Given the description of an element on the screen output the (x, y) to click on. 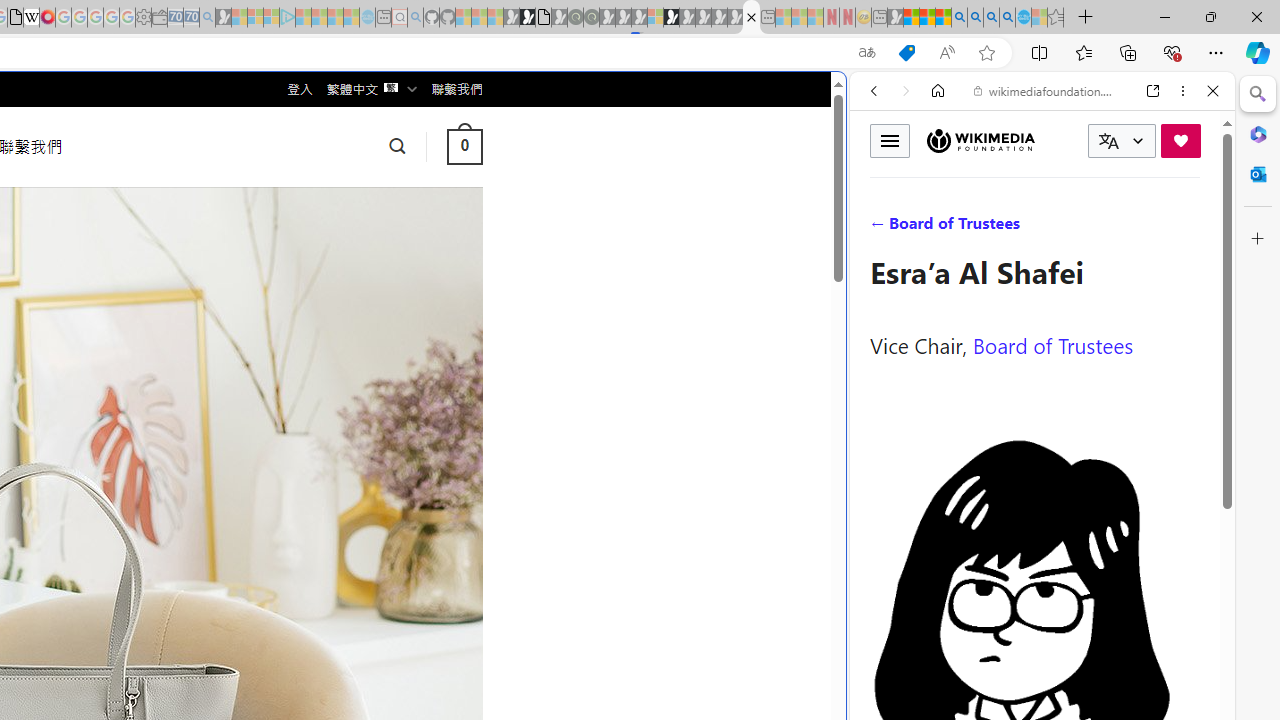
Add this page to favorites (Ctrl+D) (986, 53)
Collections (1128, 52)
Search or enter web address (343, 191)
Copilot (Ctrl+Shift+.) (1258, 52)
Wikimedia Foundation (980, 141)
Toggle menu (890, 140)
VIDEOS (1006, 228)
